Given the description of an element on the screen output the (x, y) to click on. 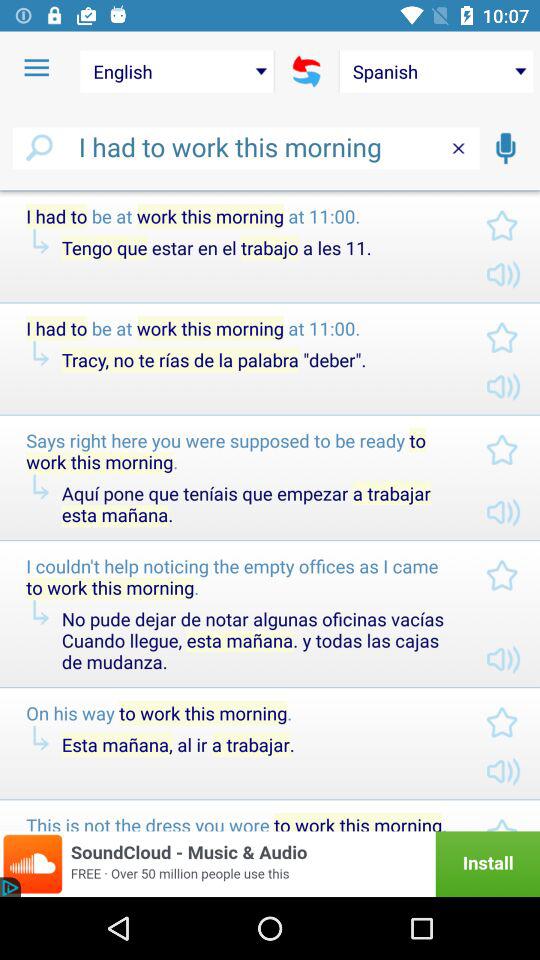
flip to the english (176, 71)
